Given the description of an element on the screen output the (x, y) to click on. 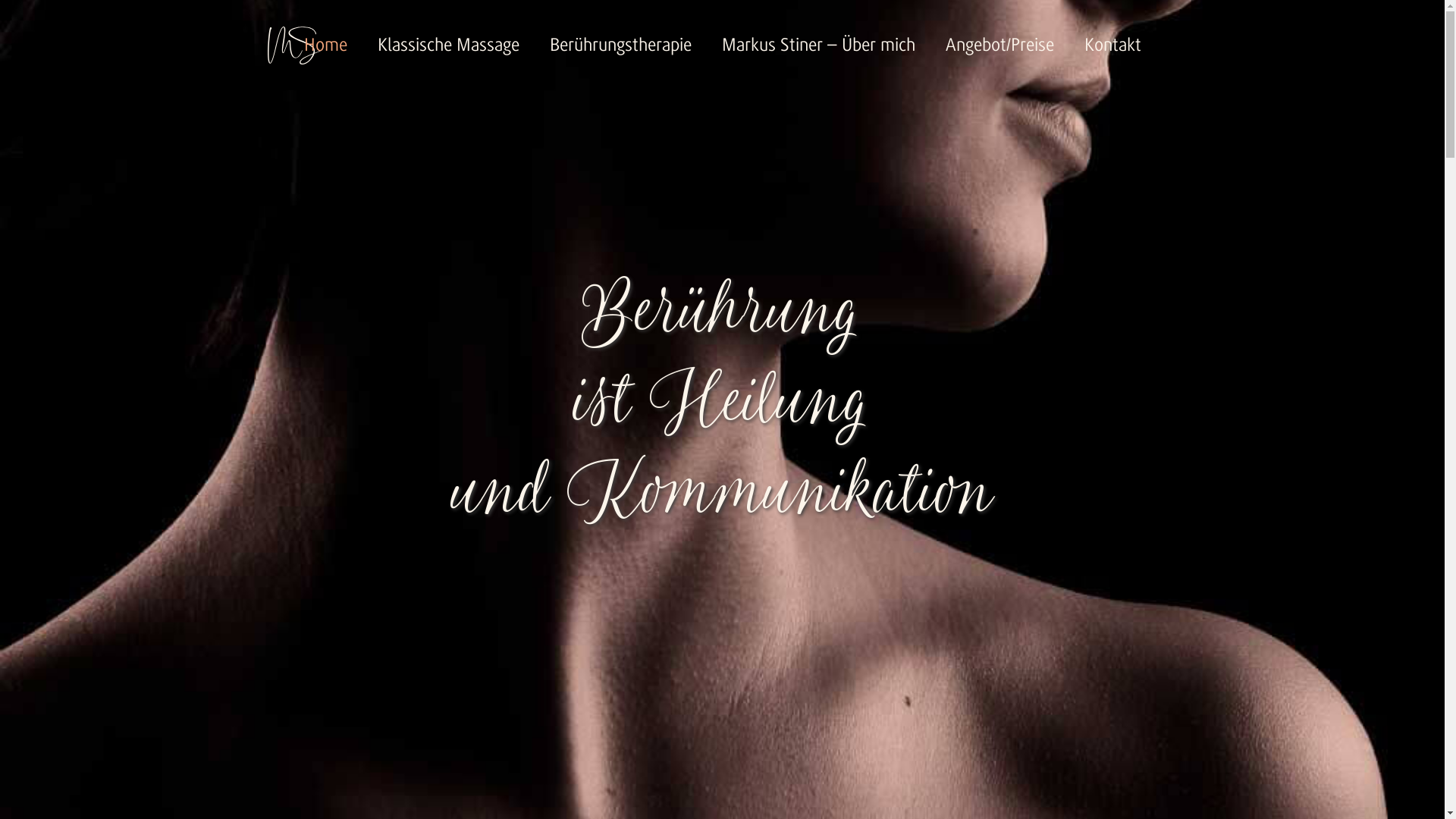
Angebot/Preise Element type: text (998, 45)
Klassische Massage Element type: text (448, 45)
Home Element type: hover (293, 45)
Home Element type: text (332, 45)
Kontakt Element type: text (1105, 45)
